Given the description of an element on the screen output the (x, y) to click on. 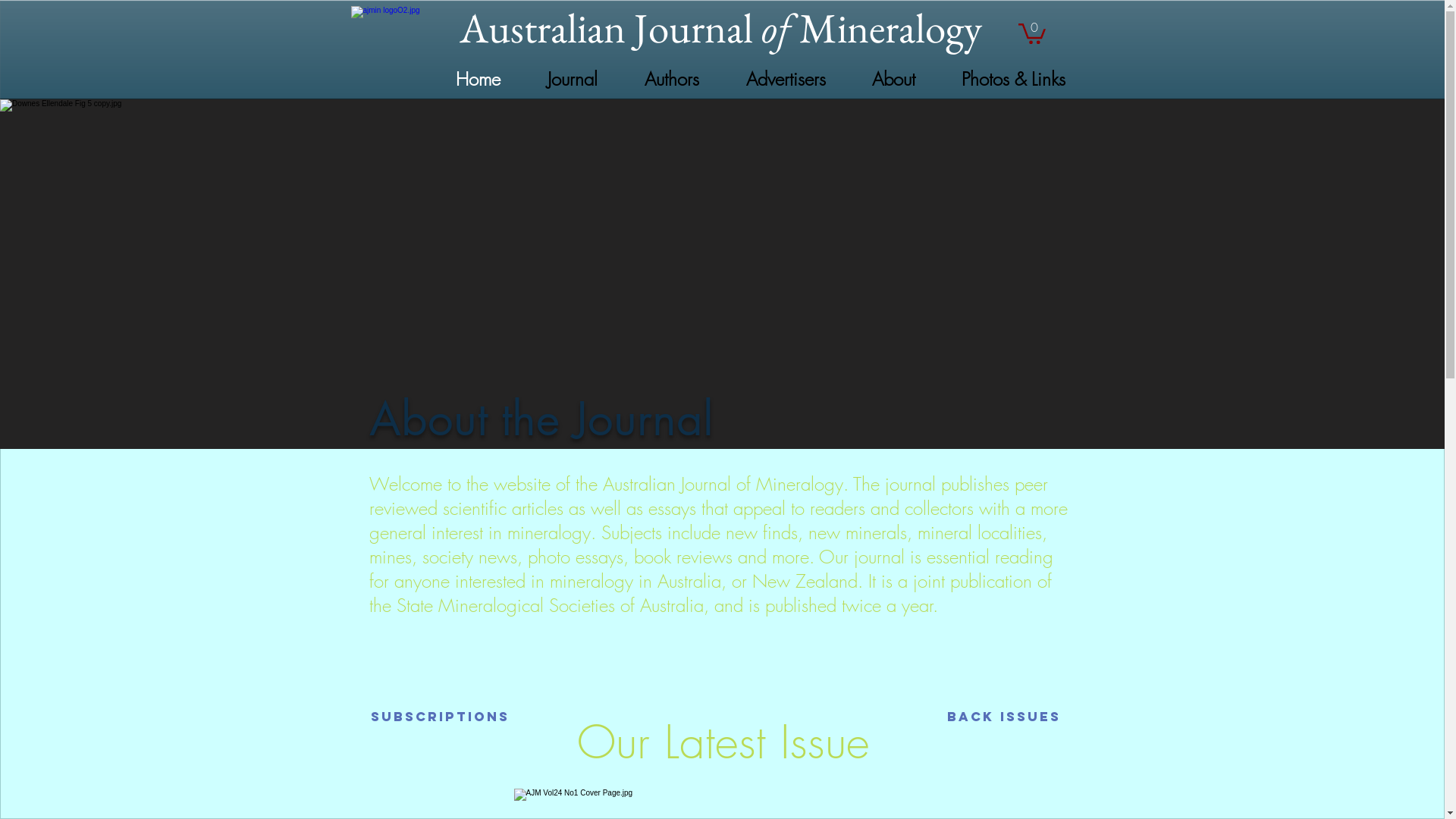
Home Element type: text (465, 78)
0 Element type: text (1030, 32)
subscriptions Element type: text (441, 716)
BACK ISSUES Element type: text (1006, 716)
